Given the description of an element on the screen output the (x, y) to click on. 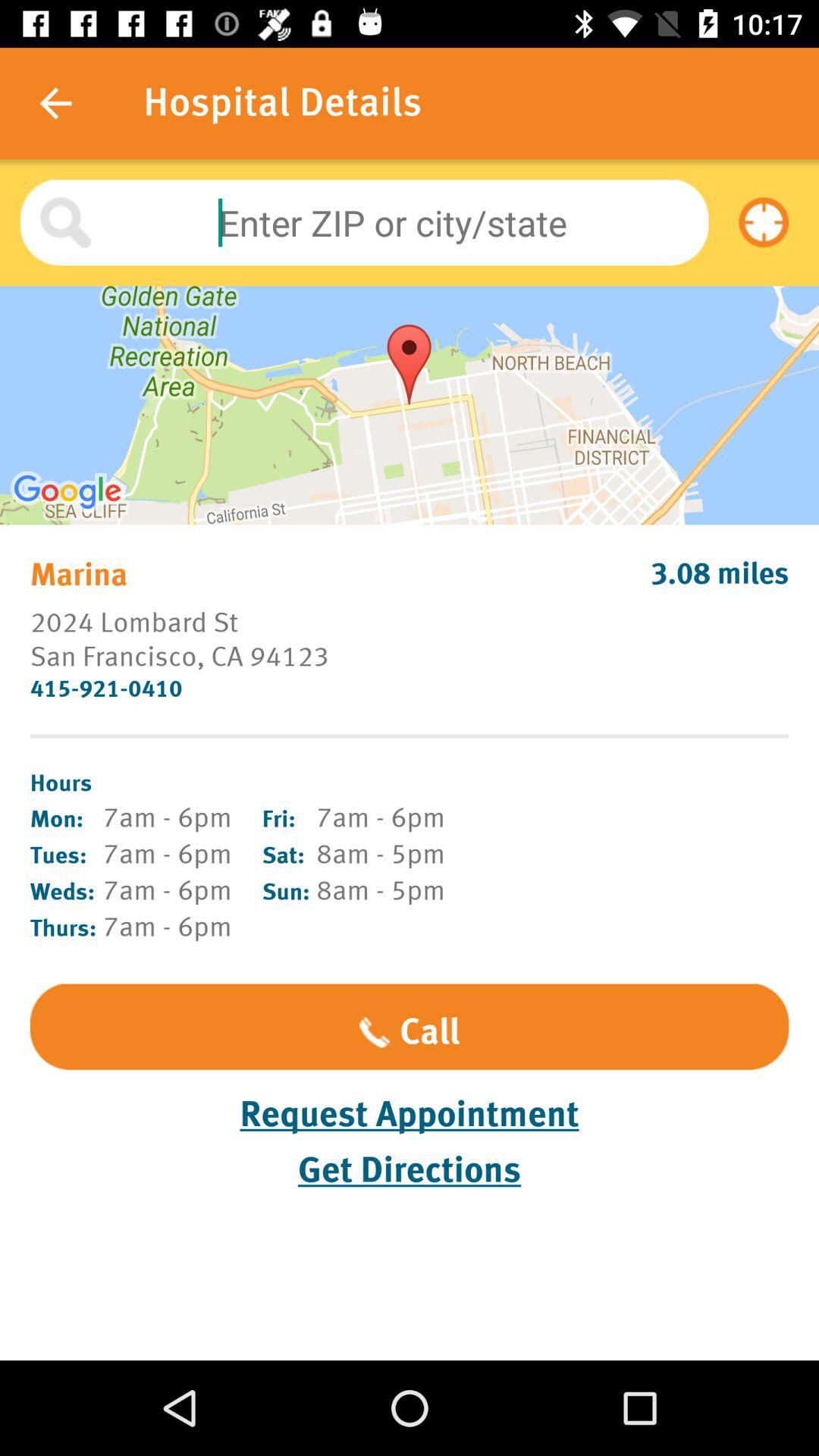
launch the item at the top right corner (763, 222)
